Given the description of an element on the screen output the (x, y) to click on. 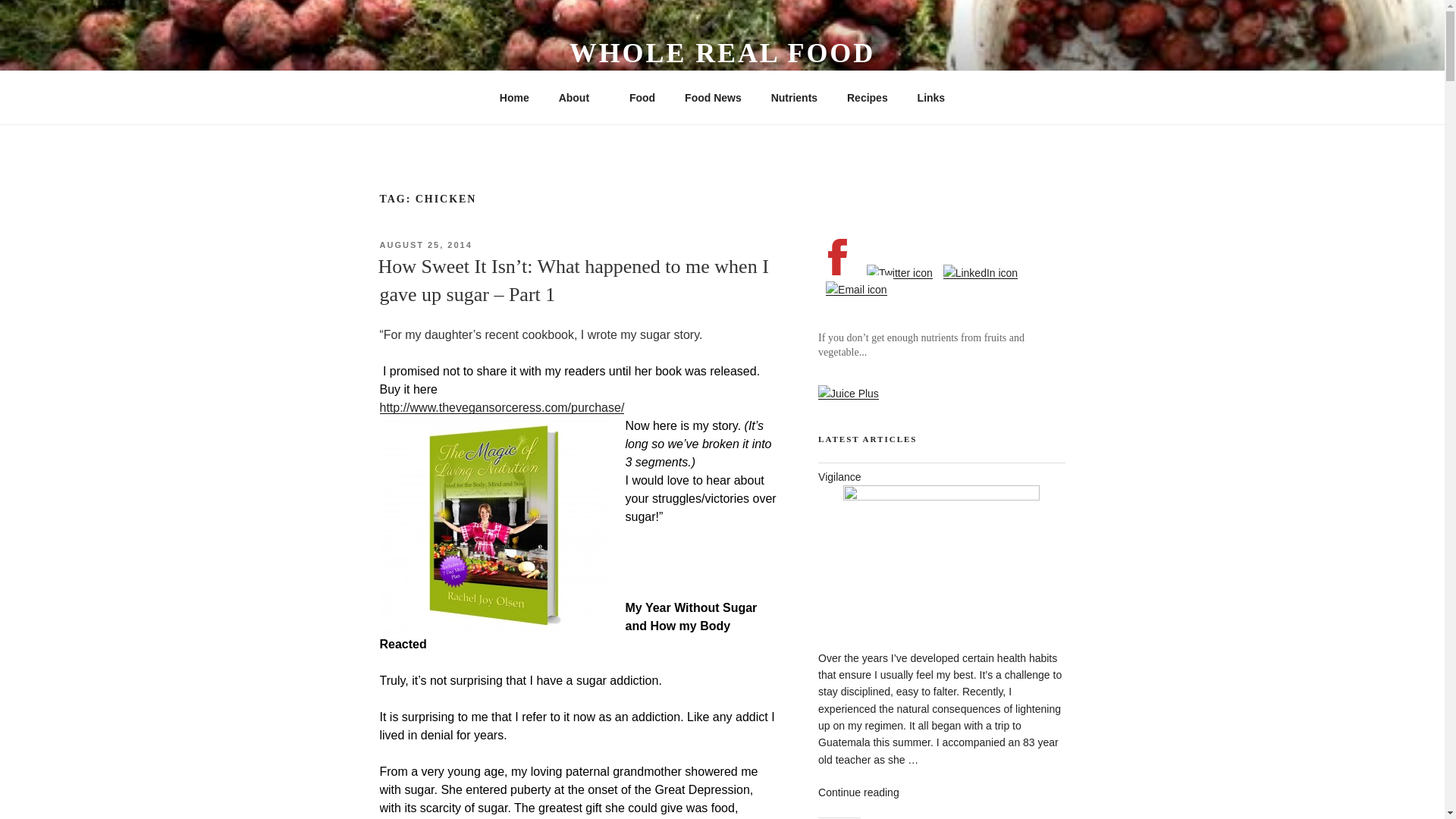
Nutrients (793, 97)
Food News (713, 97)
Recipes (866, 97)
Links (931, 97)
Home (513, 97)
AUGUST 25, 2014 (424, 244)
About (578, 97)
Food (641, 97)
WHOLE REAL FOOD (722, 52)
